Given the description of an element on the screen output the (x, y) to click on. 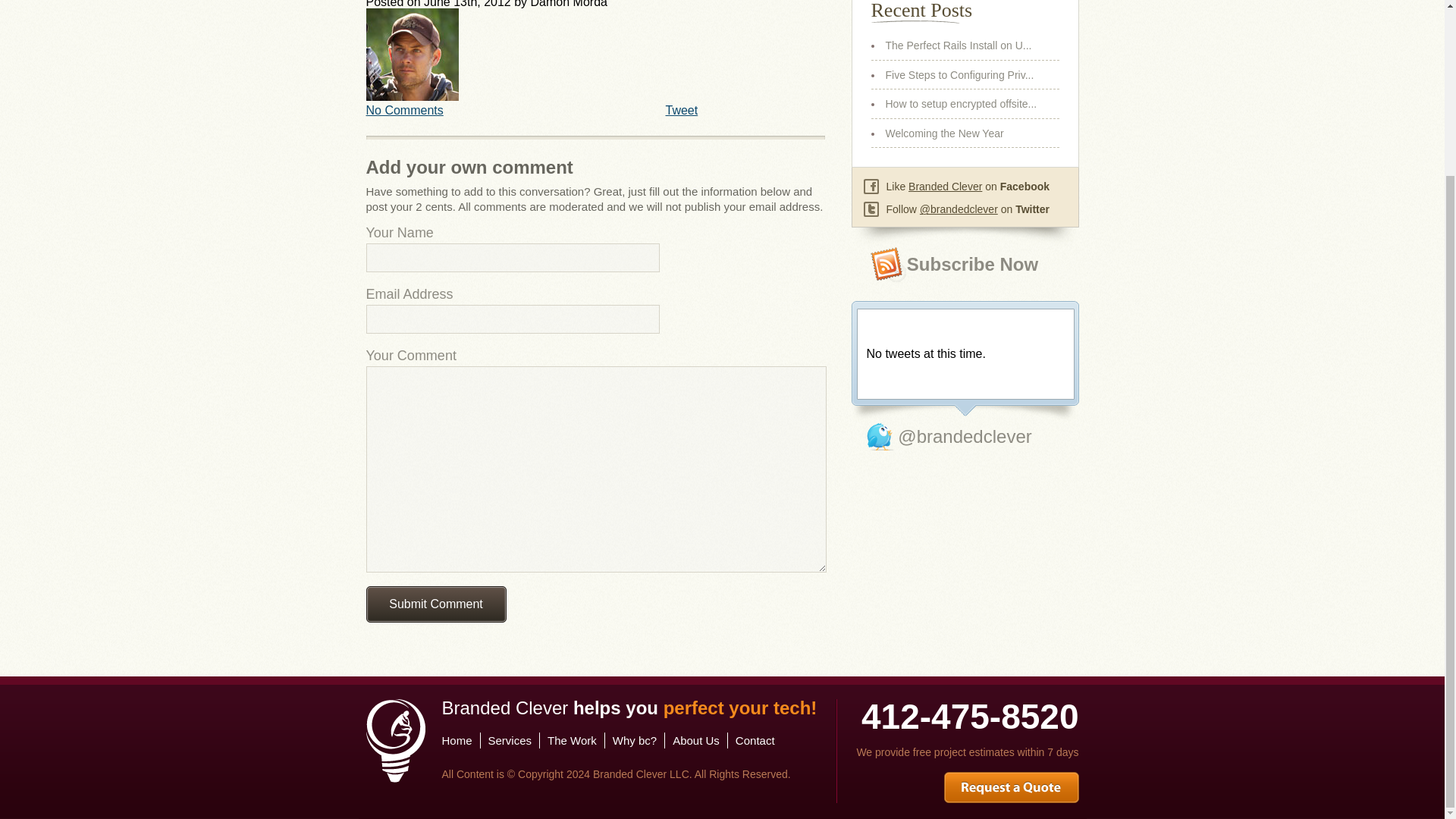
About Us (695, 739)
Subscribe Now (972, 263)
Welcoming the New Year (944, 133)
The Perfect Rails Install on U... (958, 45)
Tweet (712, 111)
Contact (754, 739)
Why bc? (634, 739)
How to setup encrypted offsite... (960, 103)
Branded Clever (944, 186)
Submit Comment (435, 604)
